Given the description of an element on the screen output the (x, y) to click on. 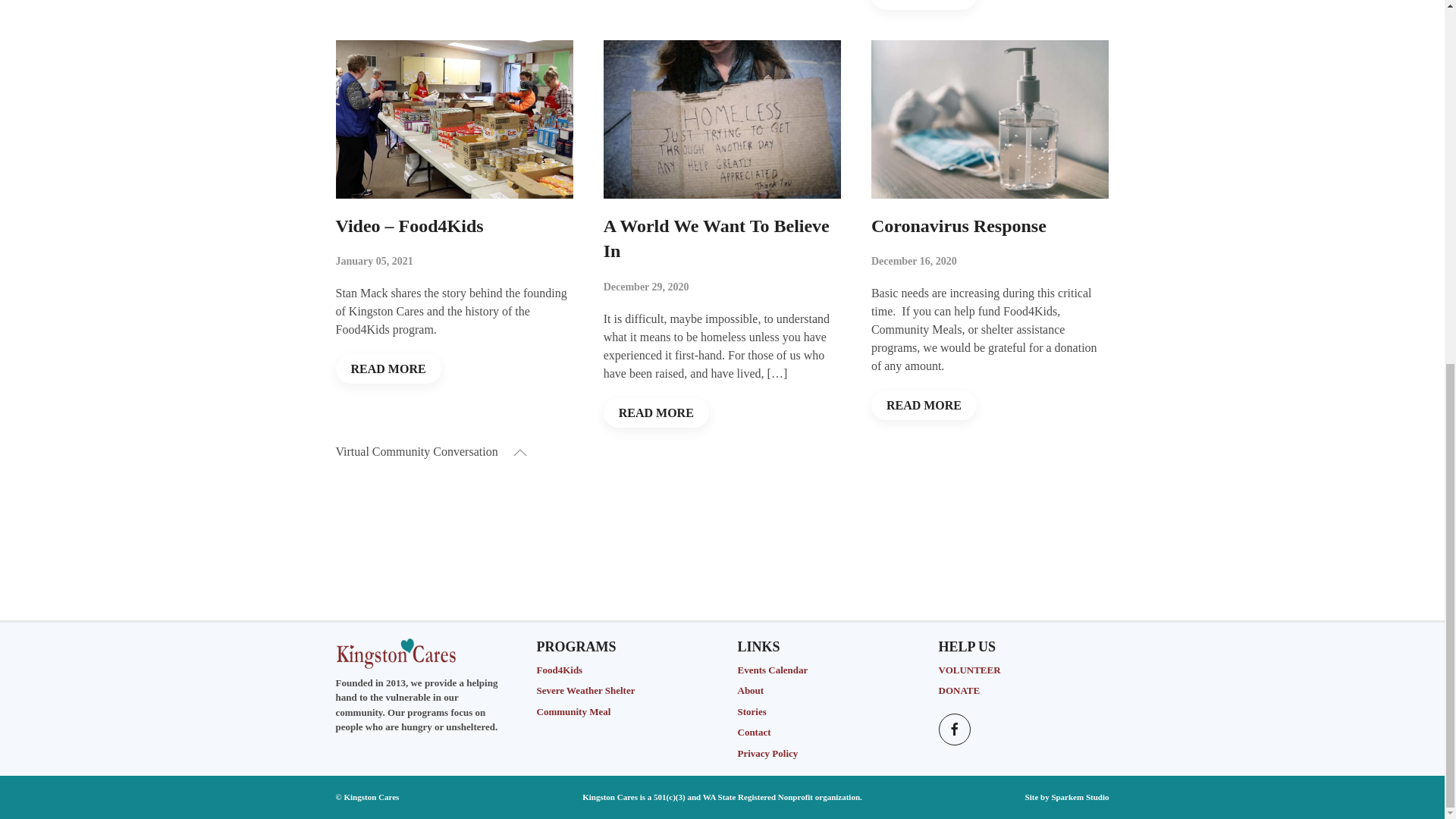
READ MORE (923, 4)
READ MORE (923, 405)
Food4Kids (560, 669)
READ MORE (656, 411)
Severe Weather Shelter (585, 690)
READ MORE (387, 368)
